Given the description of an element on the screen output the (x, y) to click on. 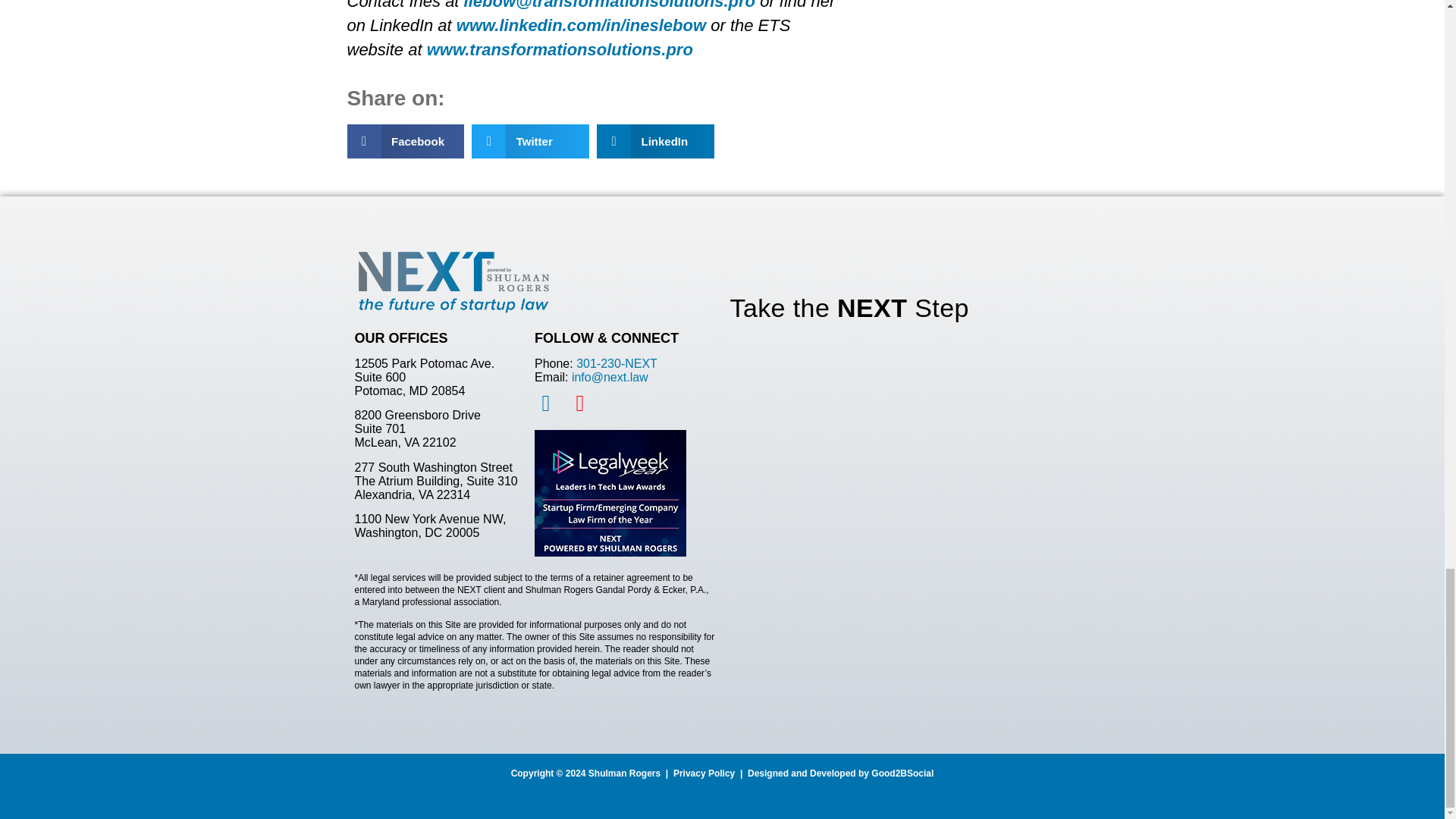
Form 0 (909, 496)
